Given the description of an element on the screen output the (x, y) to click on. 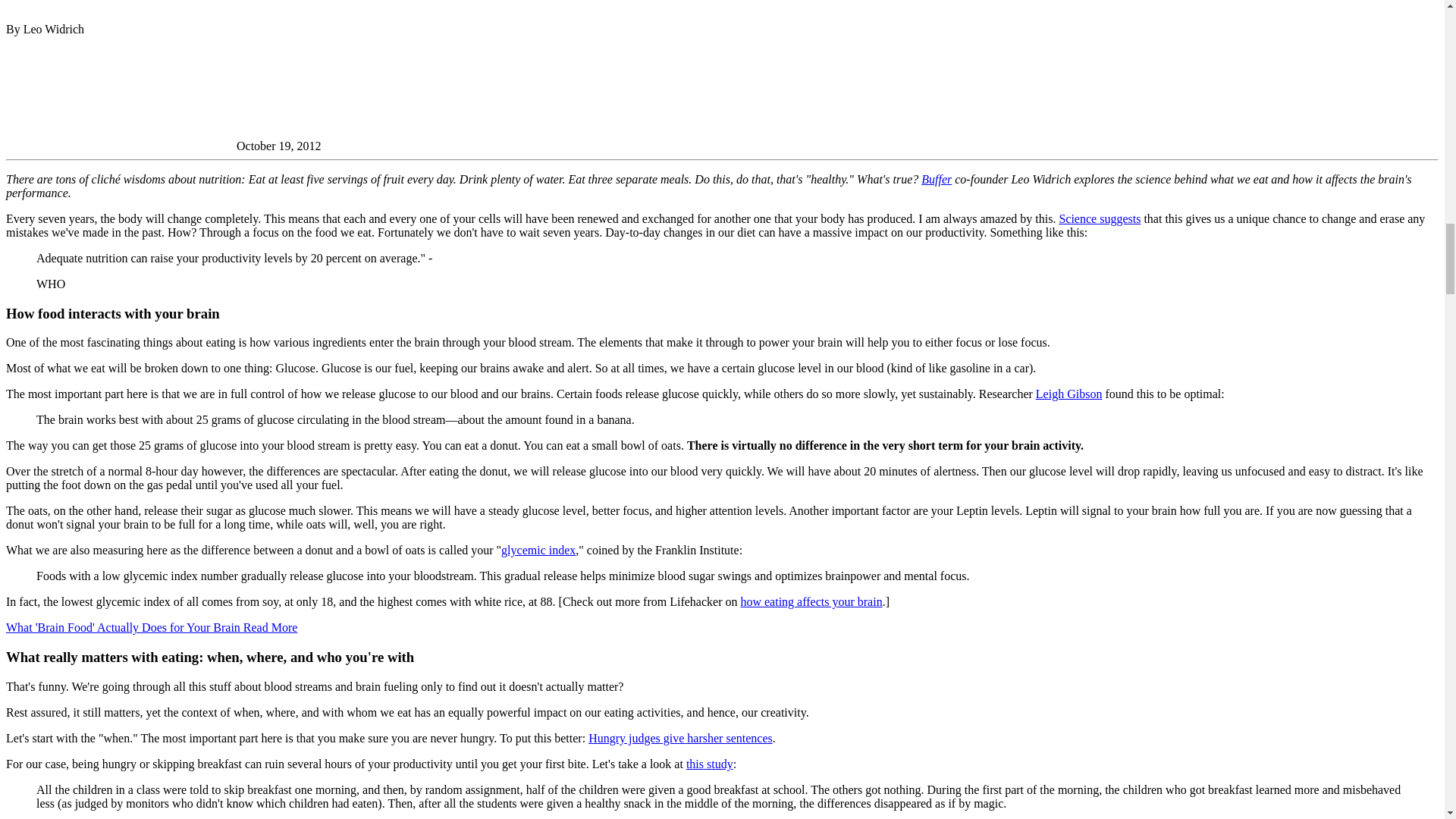
open in a new window (270, 626)
open in a new window (810, 601)
open in a new window (124, 626)
